Given the description of an element on the screen output the (x, y) to click on. 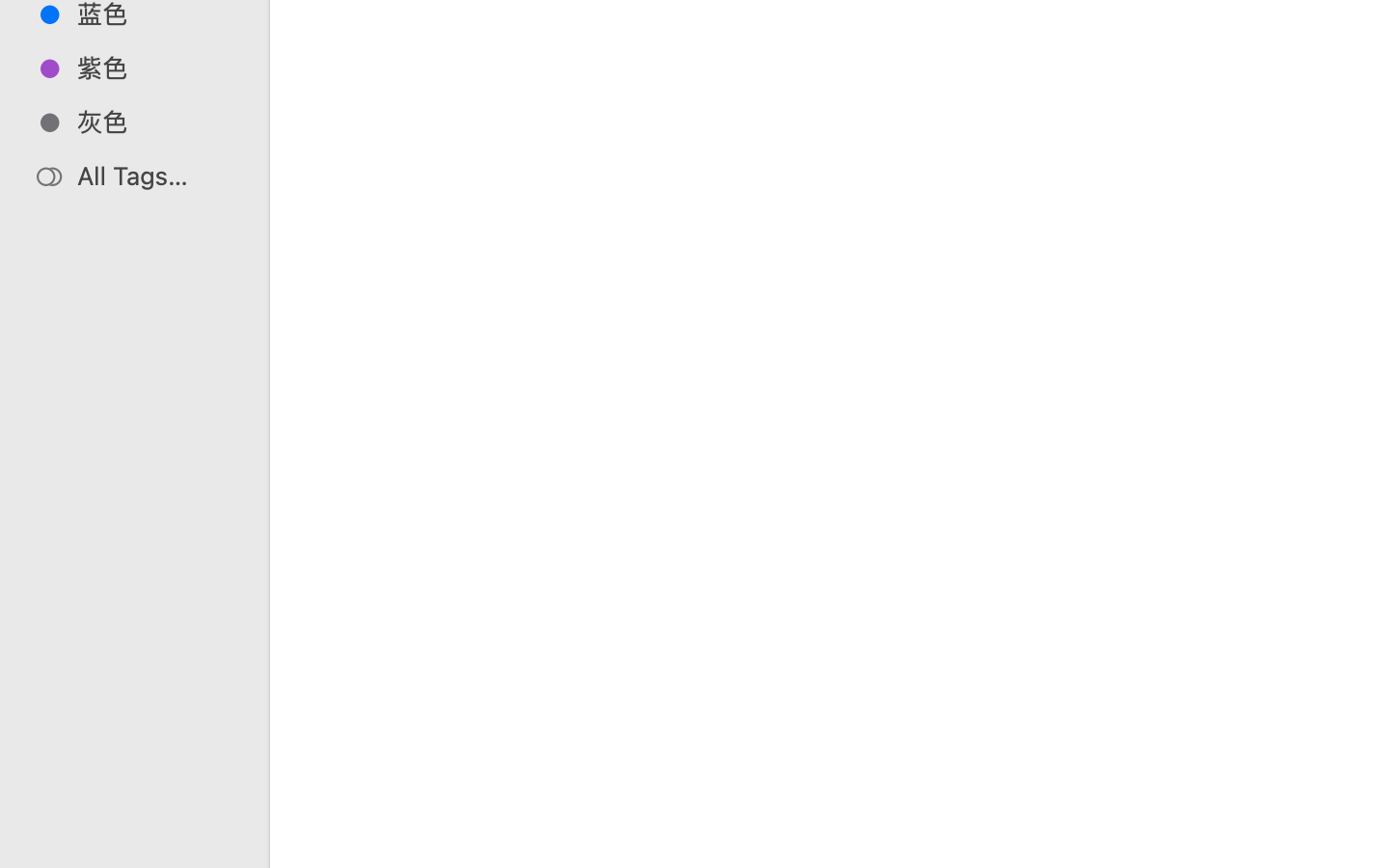
All Tags… Element type: AXStaticText (155, 175)
紫色 Element type: AXStaticText (155, 67)
Tags… Element type: AXStaticText (41, 852)
Shadowrocket Element type: AXStaticText (875, 786)
0 Element type: AXRadioButton (23, 846)
